Given the description of an element on the screen output the (x, y) to click on. 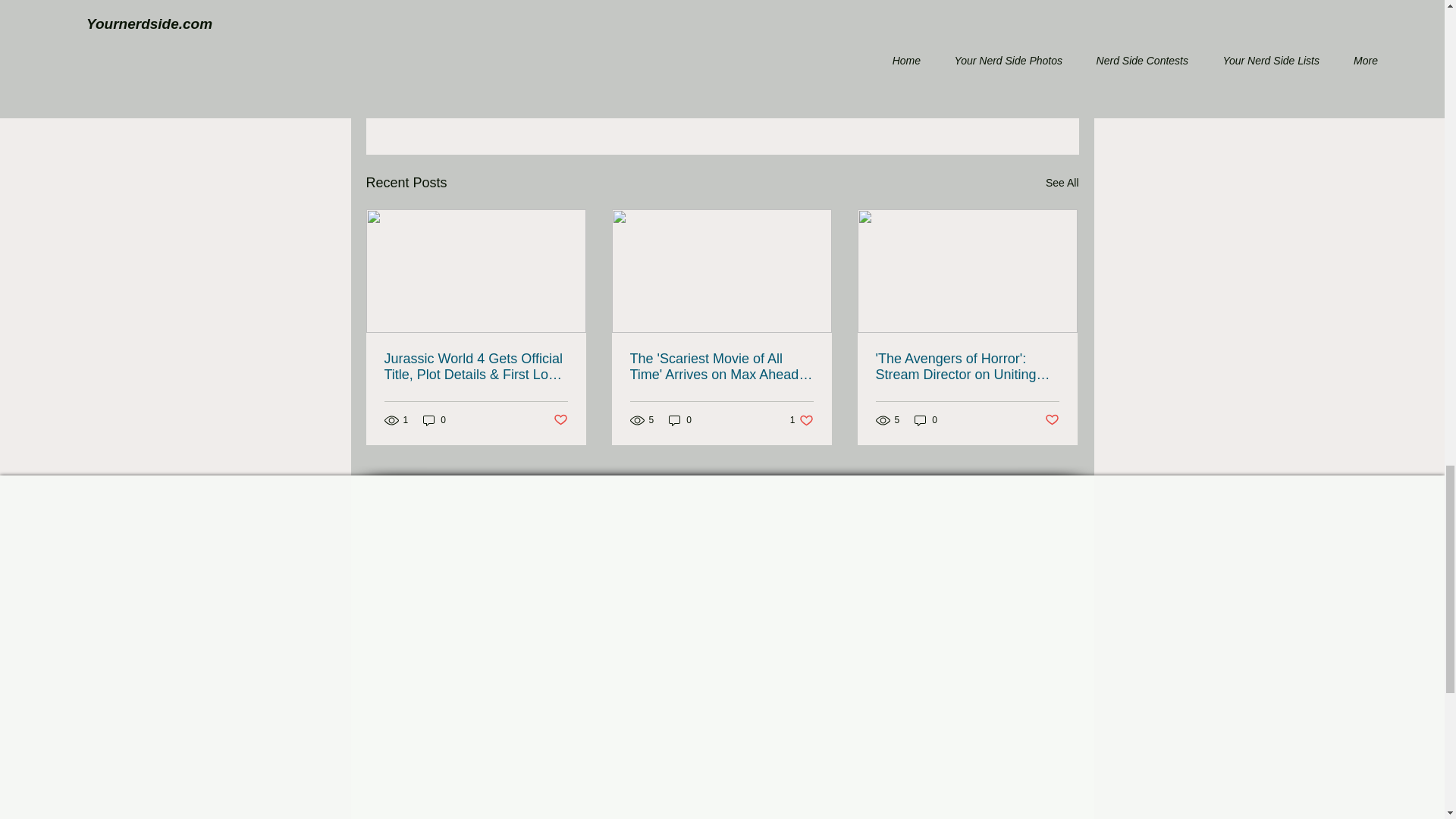
See All (1061, 182)
Post not marked as liked (995, 100)
General Post (971, 55)
0 (434, 420)
